Given the description of an element on the screen output the (x, y) to click on. 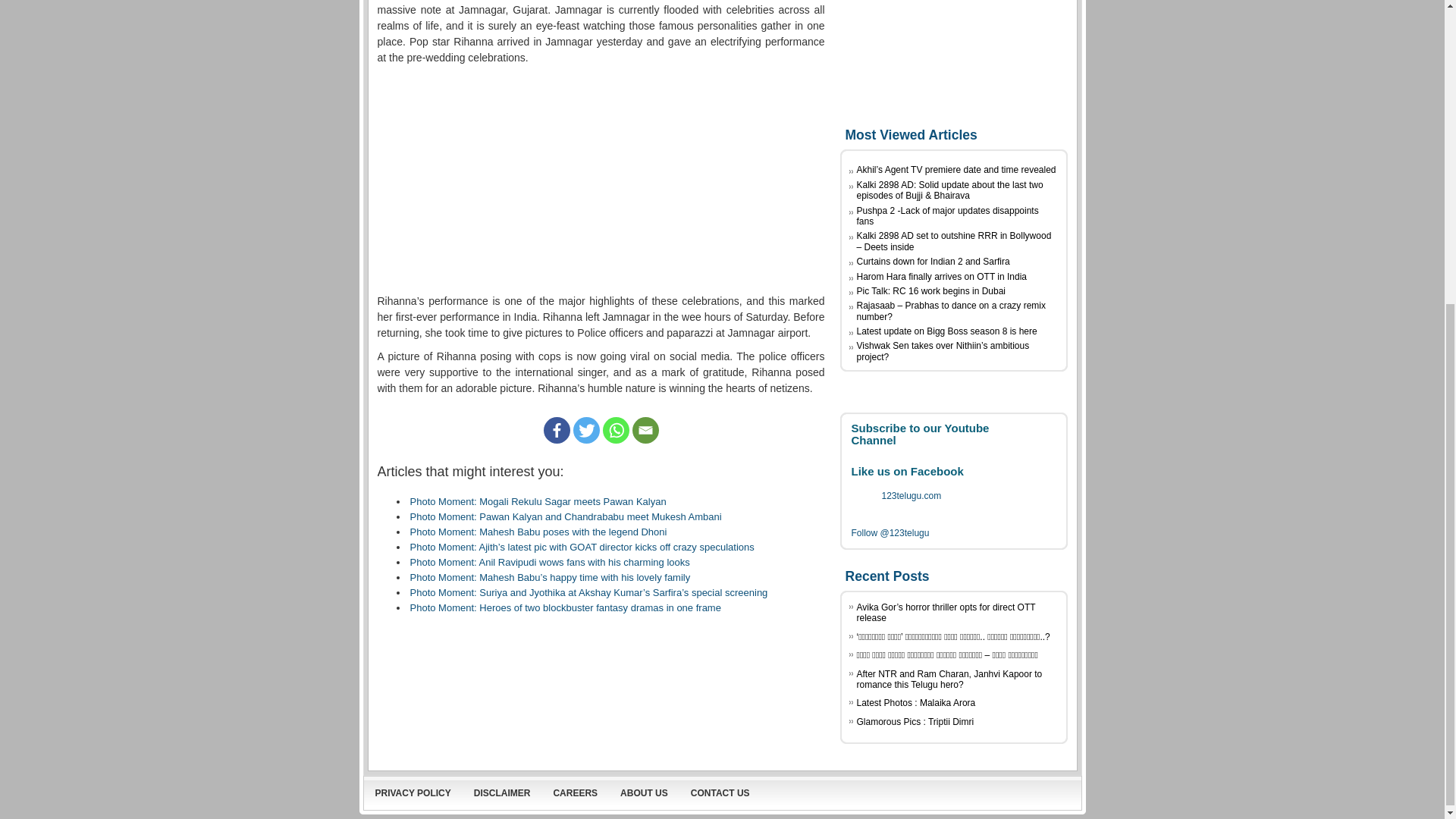
Advertisement (953, 60)
Pic Talk: RC 16 work begins in Dubai (931, 290)
Photo Moment: Mogali Rekulu Sagar meets Pawan Kalyan (537, 501)
Curtains down for Indian 2 and Sarfira (933, 261)
Latest Photos : Malaika Arora (916, 702)
Advertisement (601, 179)
123telugu.com (910, 495)
Latest update on Bigg Boss season 8 is here (946, 330)
